Given the description of an element on the screen output the (x, y) to click on. 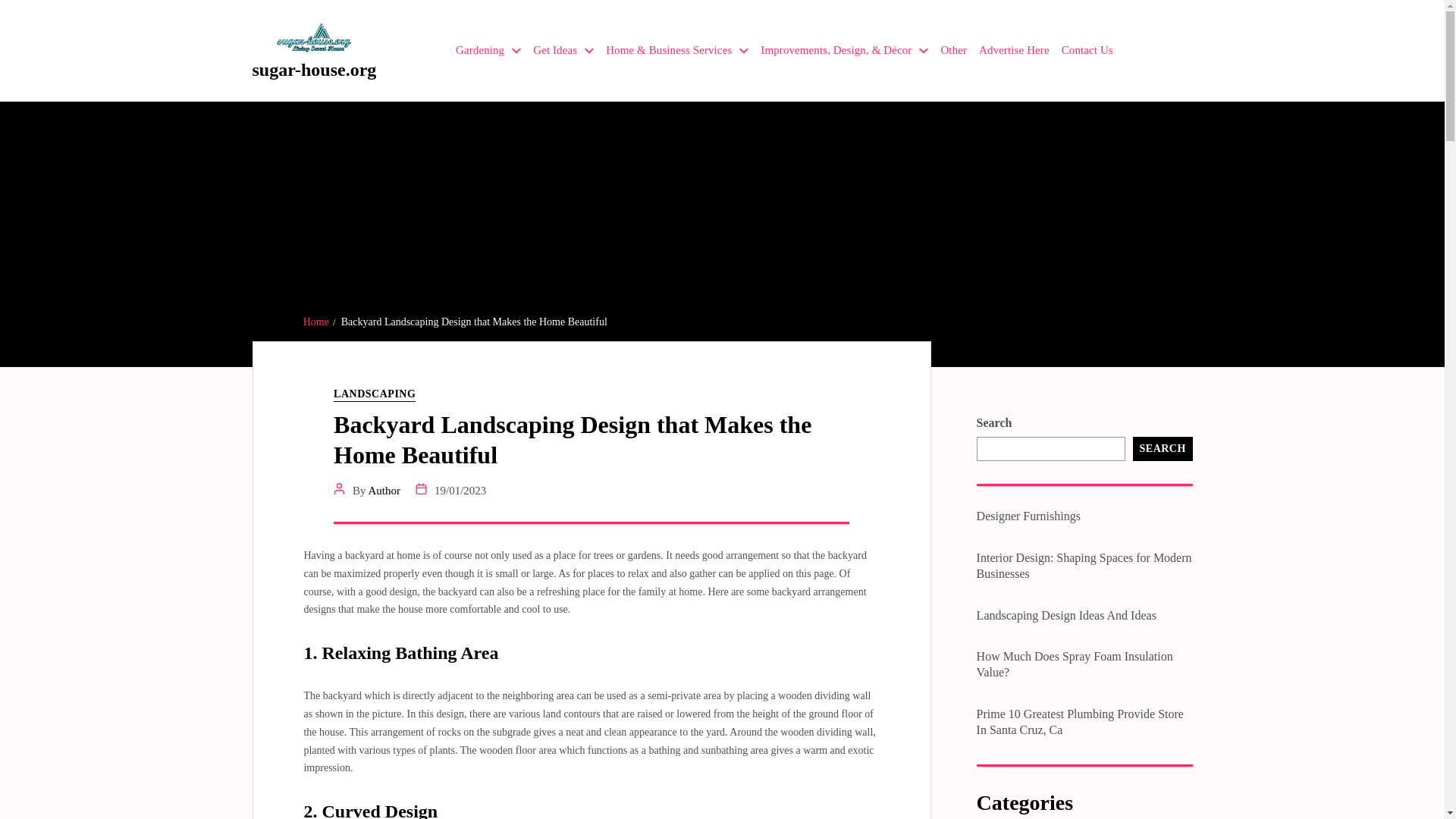
Gardening (488, 50)
Get Ideas (563, 50)
sugar-house.org (313, 69)
